Given the description of an element on the screen output the (x, y) to click on. 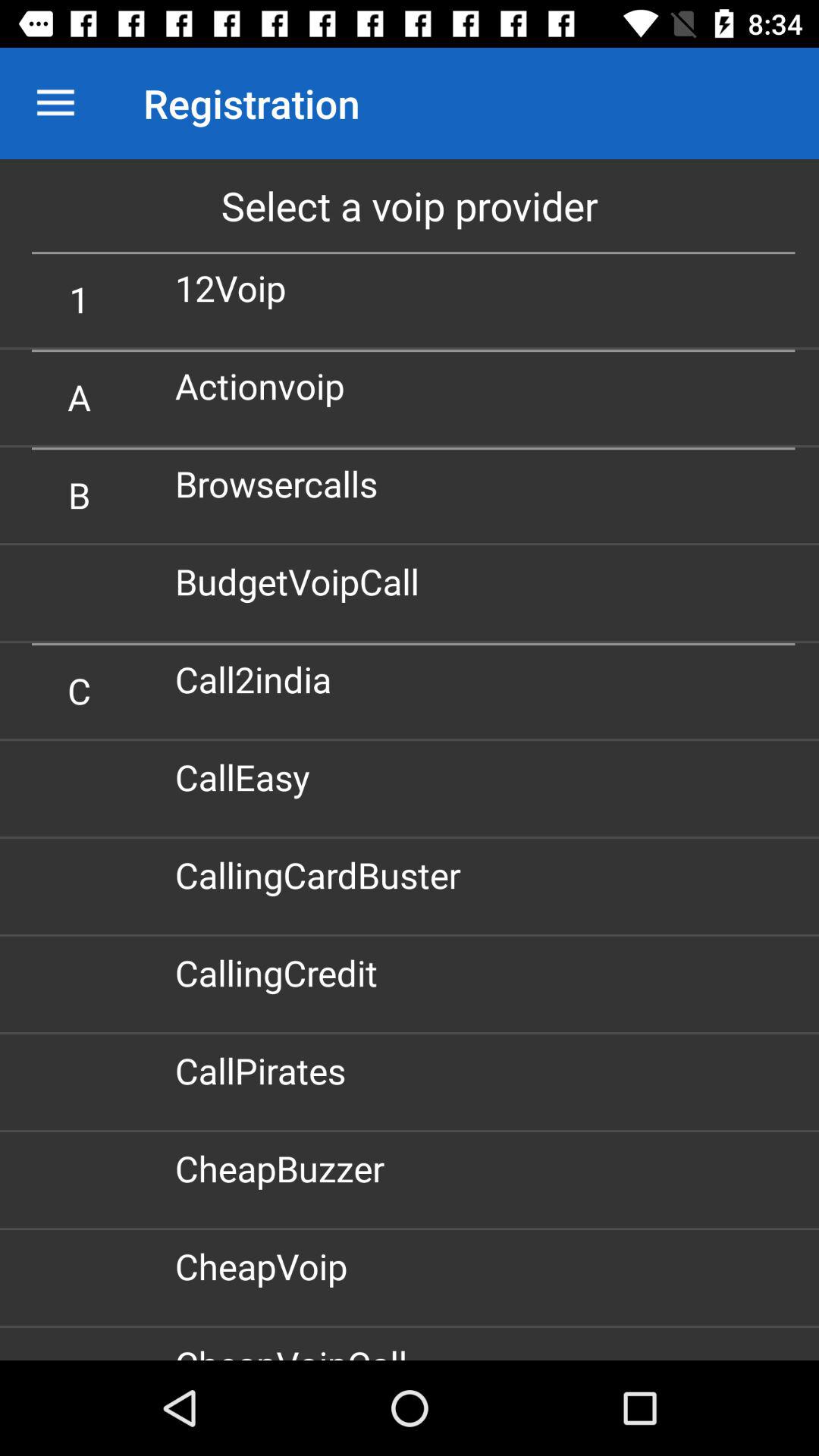
press browsercalls (282, 483)
